Given the description of an element on the screen output the (x, y) to click on. 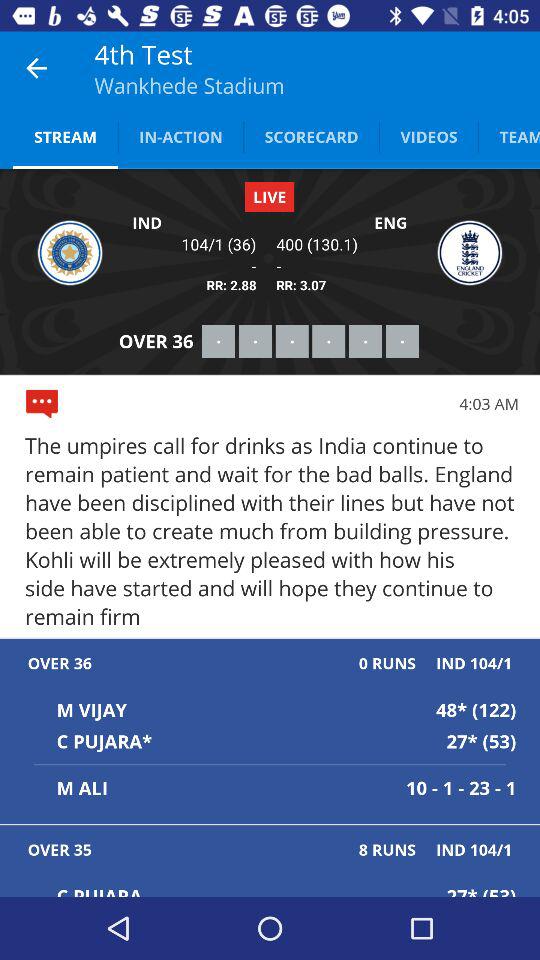
press the icon to the left of the scorecard (180, 136)
